Given the description of an element on the screen output the (x, y) to click on. 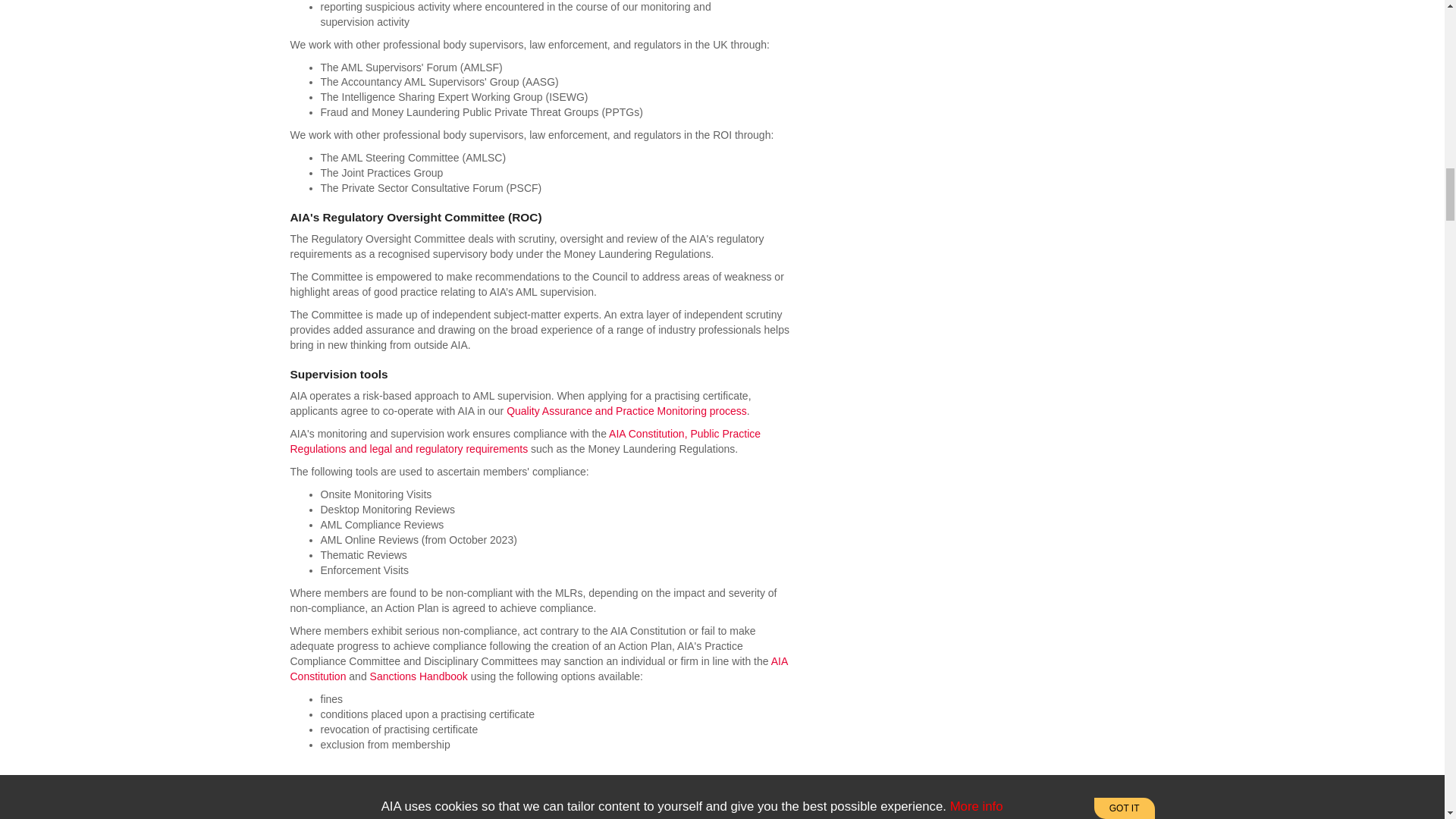
Governance (524, 441)
Sanctions Handbook (418, 676)
Quality Assurance (626, 410)
Governance (538, 668)
